Given the description of an element on the screen output the (x, y) to click on. 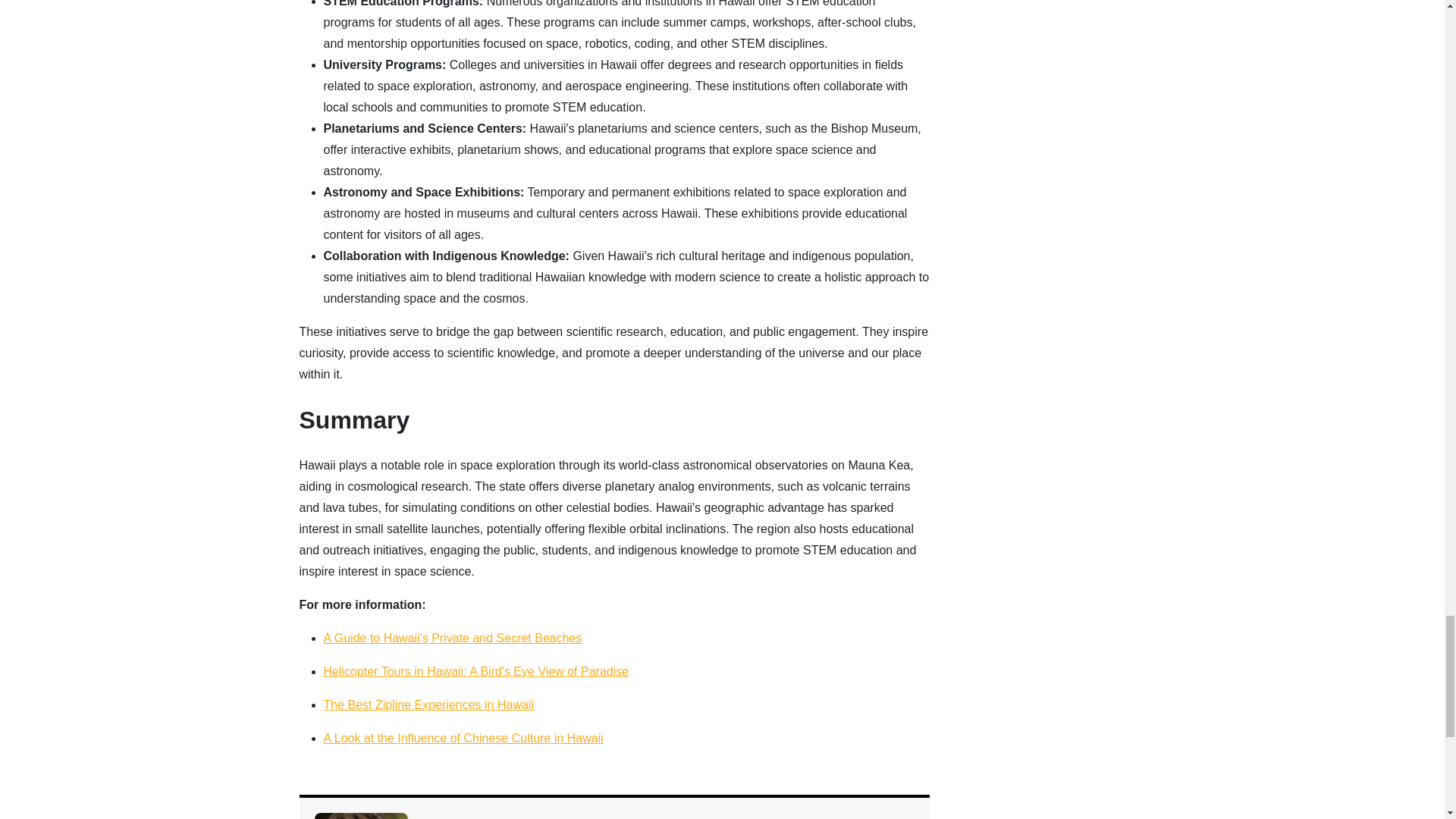
A Guide to Hawaii's Private and Secret Beaches (451, 637)
The Best Zipline Experiences in Hawaii (427, 704)
A Look at the Influence of Chinese Culture in Hawaii (462, 738)
Helicopter Tours in Hawaii: A Bird's Eye View of Paradise (475, 671)
